Given the description of an element on the screen output the (x, y) to click on. 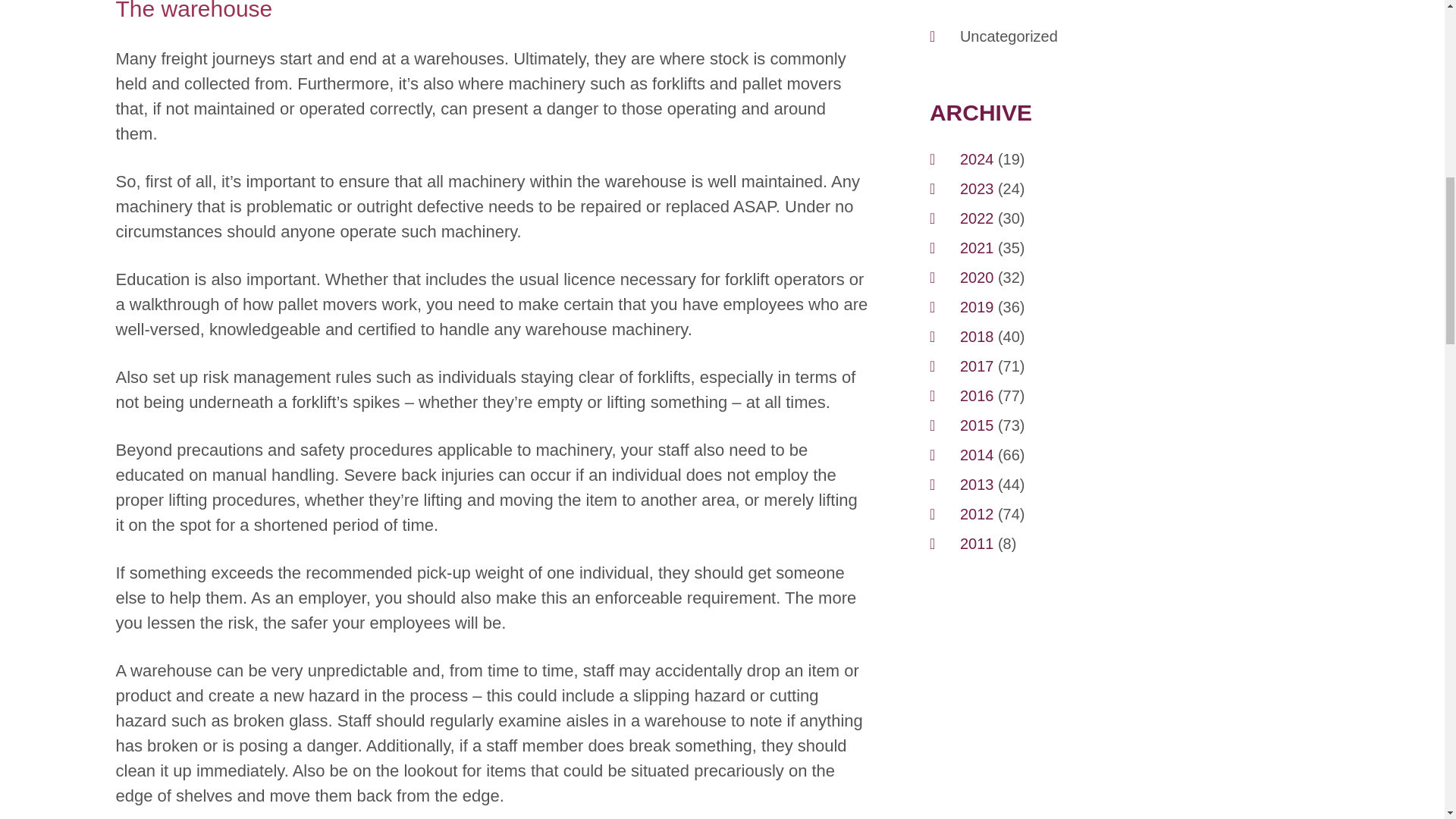
2021 (976, 247)
2023 (976, 188)
Uncategorized (1008, 36)
2022 (976, 217)
2024 (976, 158)
